Given the description of an element on the screen output the (x, y) to click on. 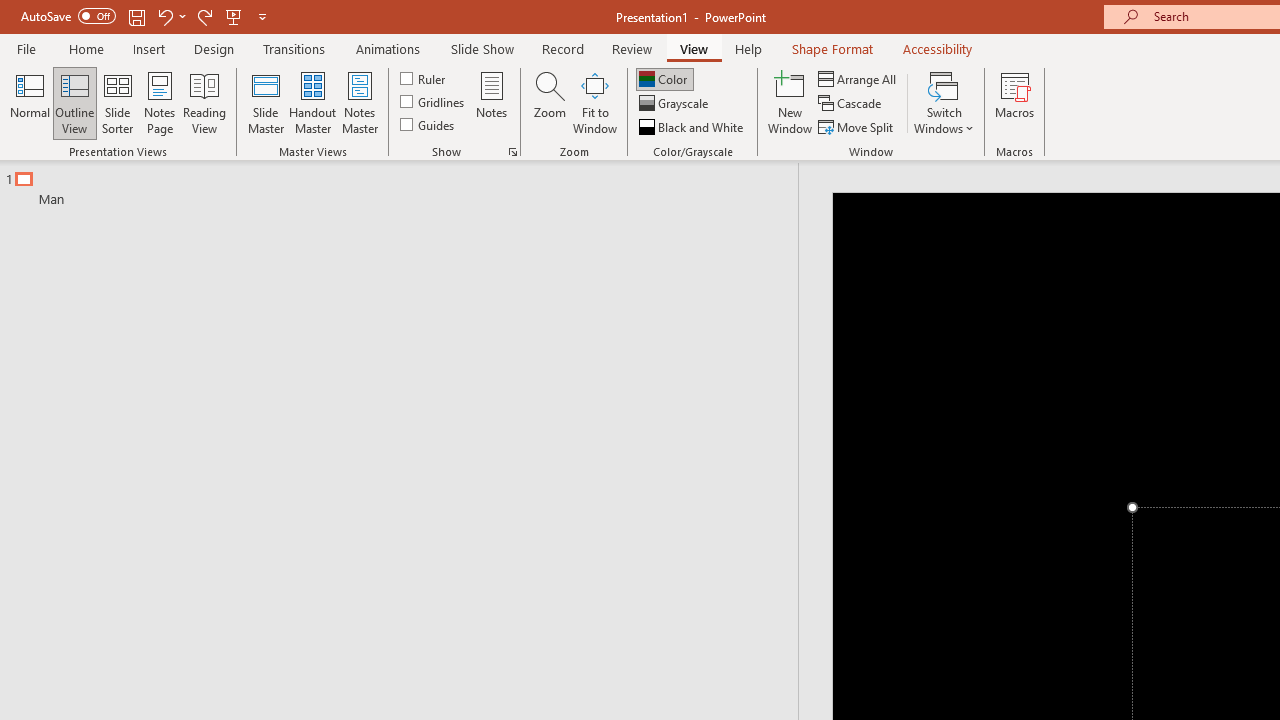
Fit to Window (594, 102)
Guides (428, 124)
Notes (492, 102)
Handout Master (312, 102)
Black and White (693, 126)
